Given the description of an element on the screen output the (x, y) to click on. 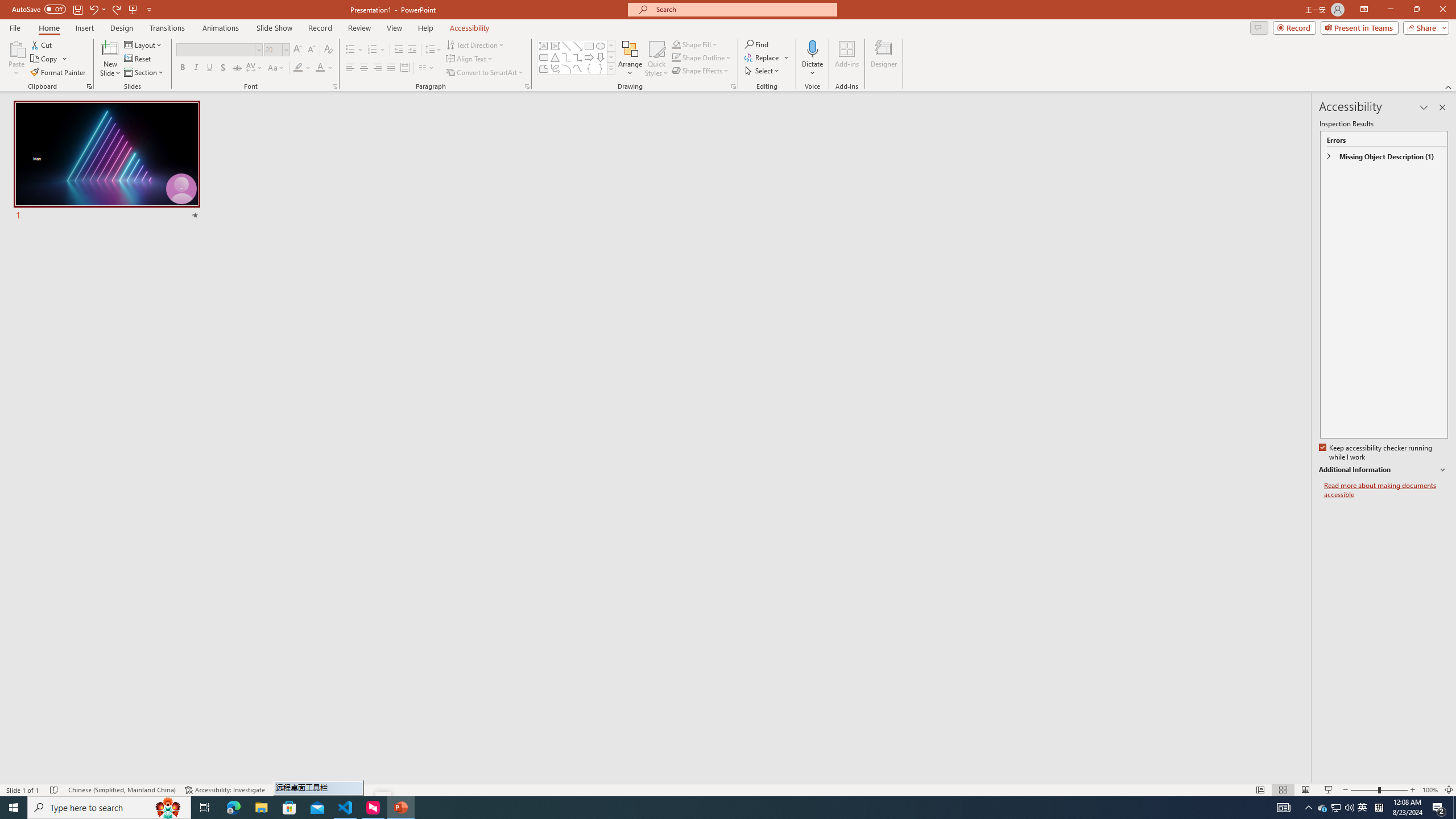
Zoom 100% (1430, 790)
